Given the description of an element on the screen output the (x, y) to click on. 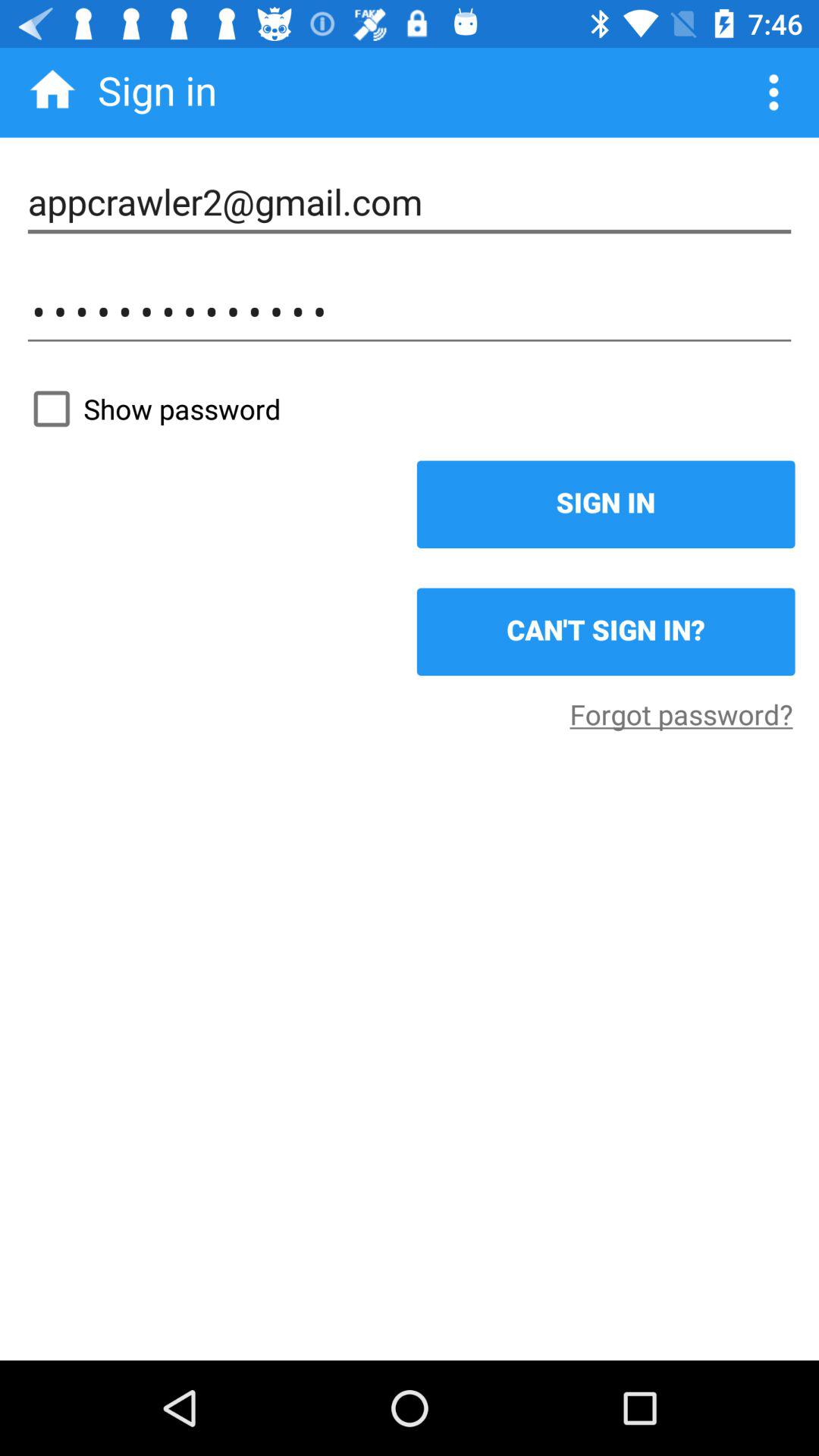
flip until the can t sign item (605, 631)
